Given the description of an element on the screen output the (x, y) to click on. 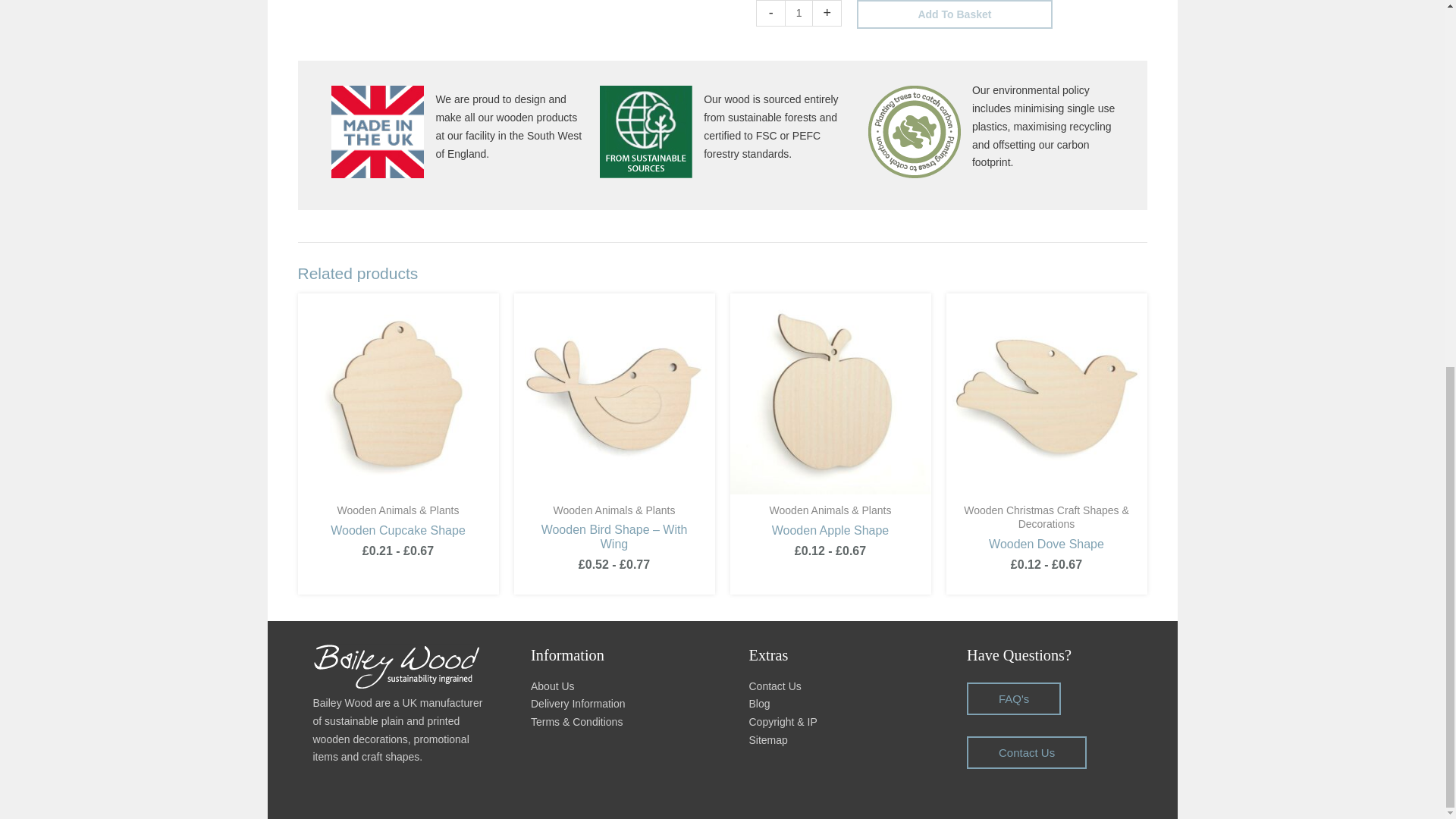
1 (798, 13)
